Given the description of an element on the screen output the (x, y) to click on. 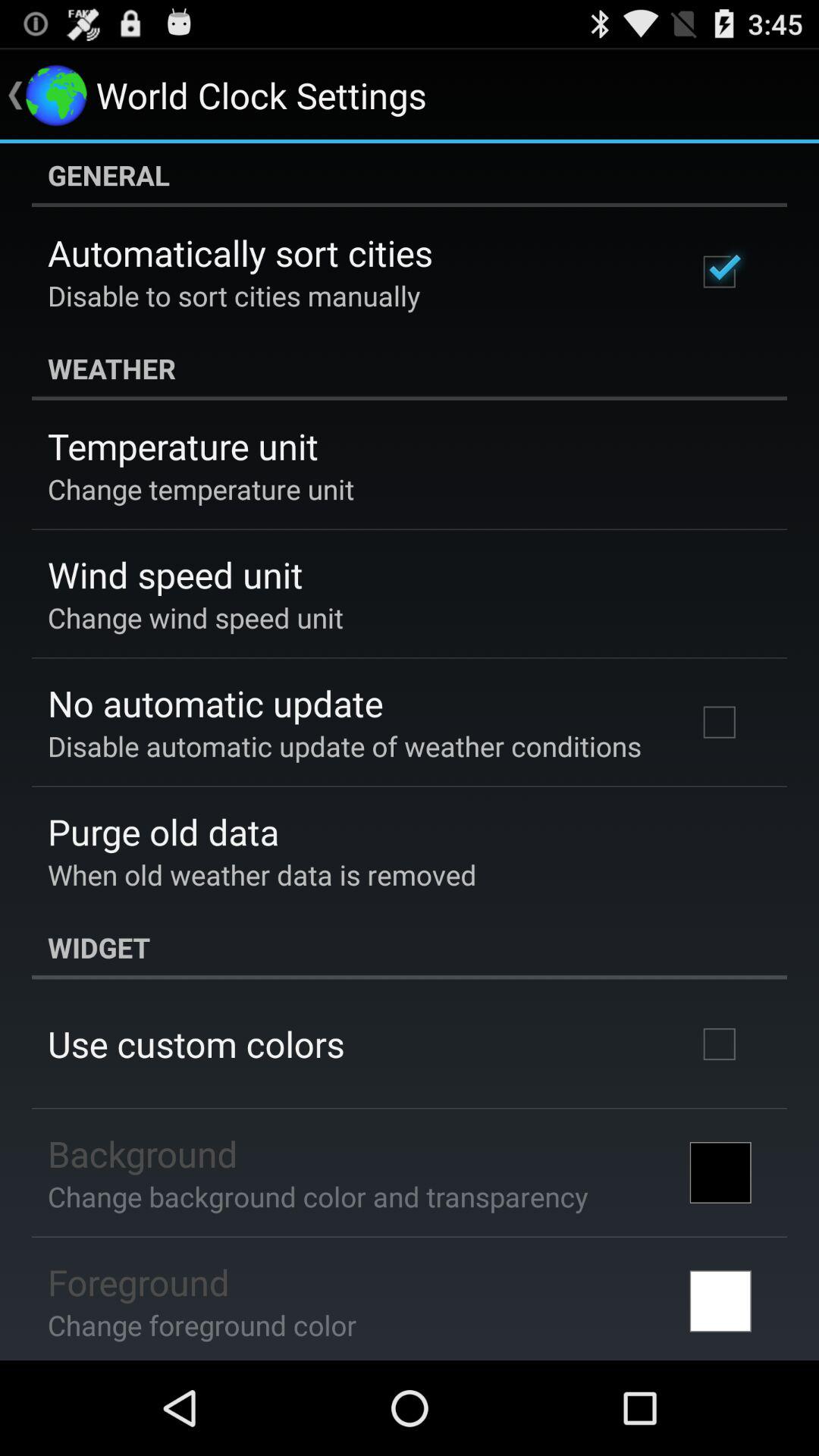
jump to widget item (409, 947)
